Given the description of an element on the screen output the (x, y) to click on. 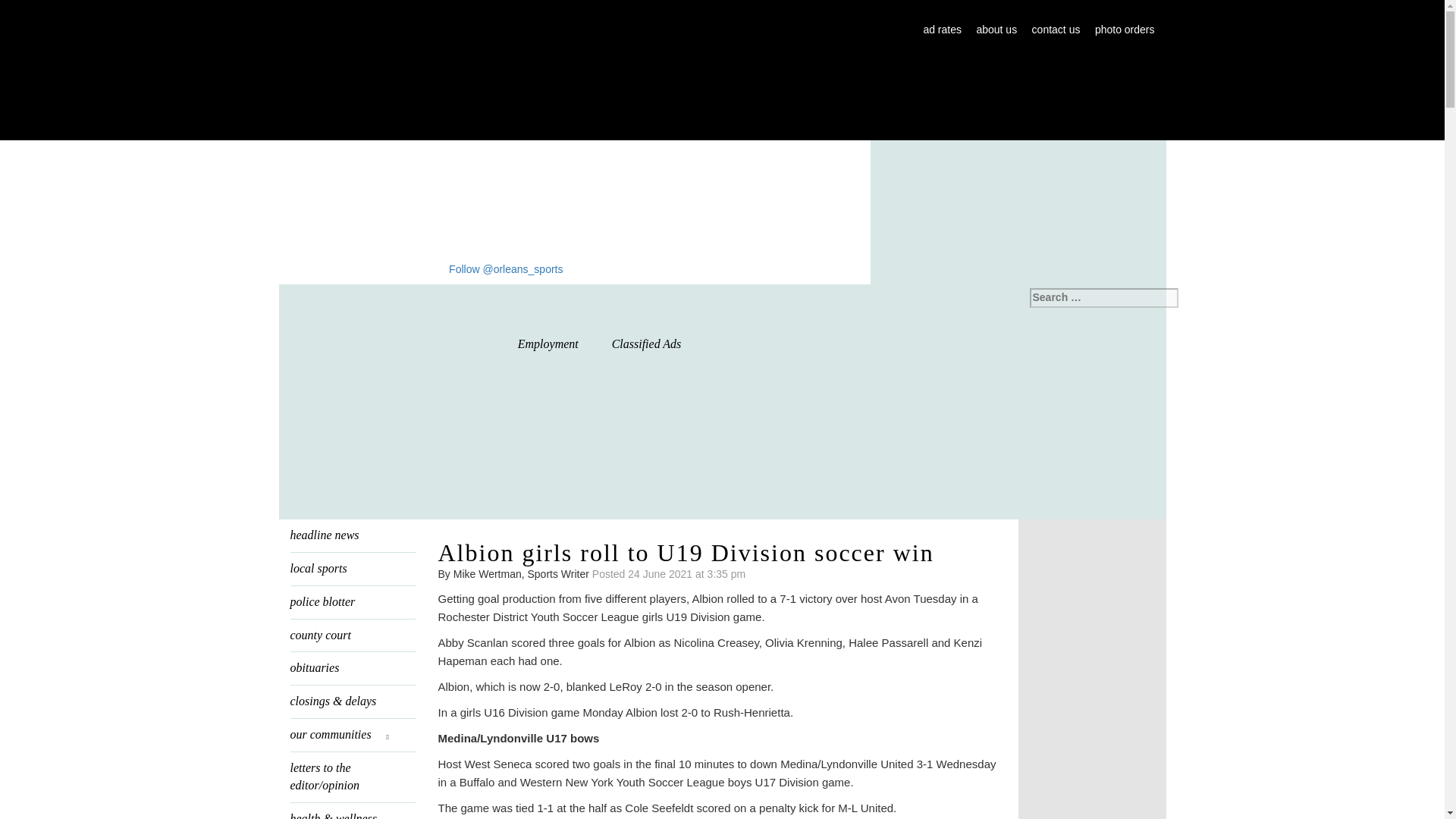
About Orleans Hub (995, 29)
Contact with Orleans Hub (1056, 29)
Orleans Hub Photo Orders (1124, 29)
headline news (351, 535)
Search for: (1103, 297)
Employment (548, 344)
county court (351, 635)
Donate (721, 458)
obituaries (351, 667)
police blotter (351, 602)
